Given the description of an element on the screen output the (x, y) to click on. 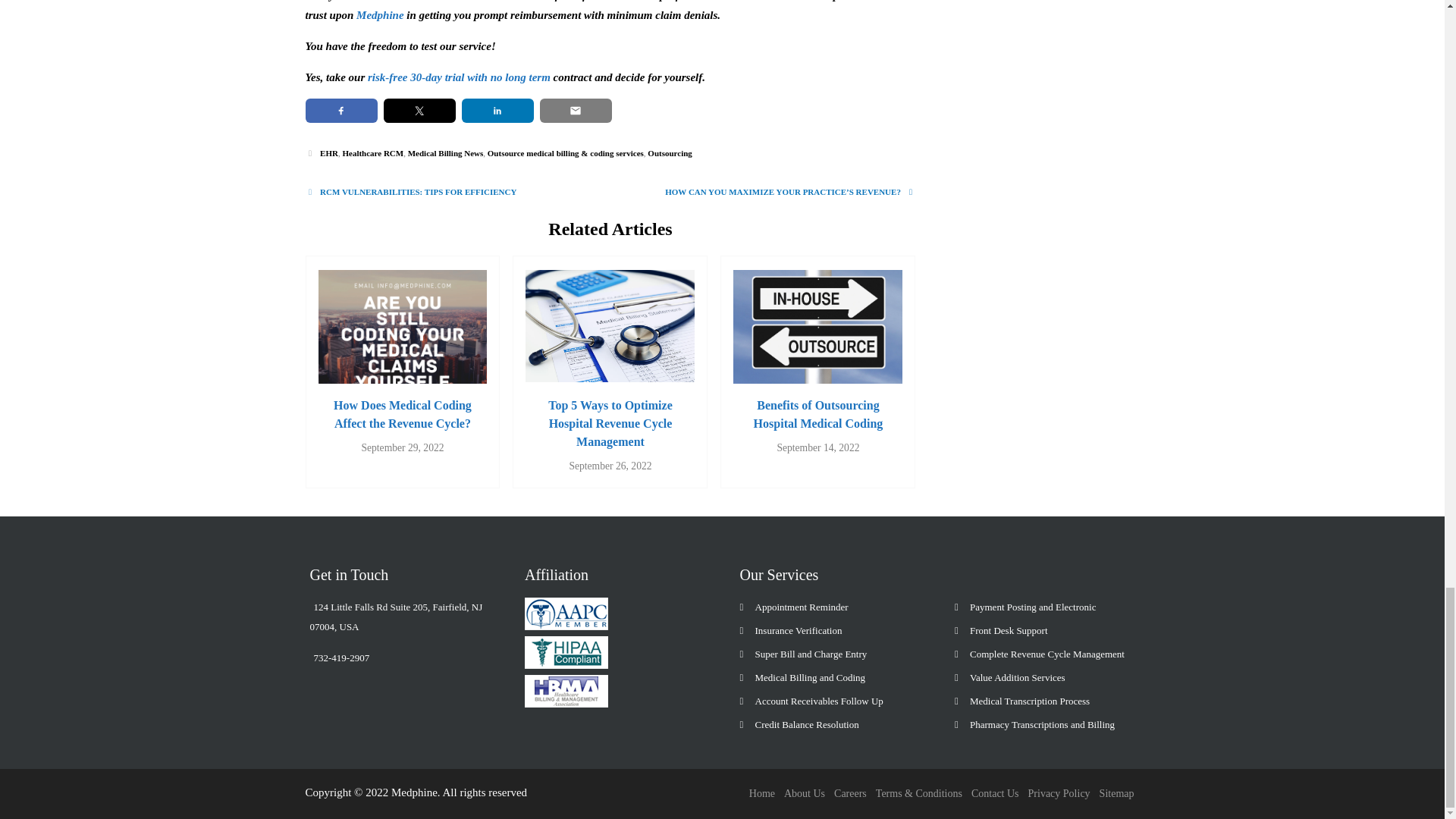
9:00 am (402, 447)
Top 5 Ways to Optimize Hospital Revenue Cycle Management (609, 372)
5:45 am (609, 465)
Benefits of Outsourcing Hospital Medical Coding (817, 405)
How Does Medical Coding Affect the Revenue Cycle? (402, 400)
Next (790, 191)
9:19 am (817, 447)
Previous (410, 191)
